Given the description of an element on the screen output the (x, y) to click on. 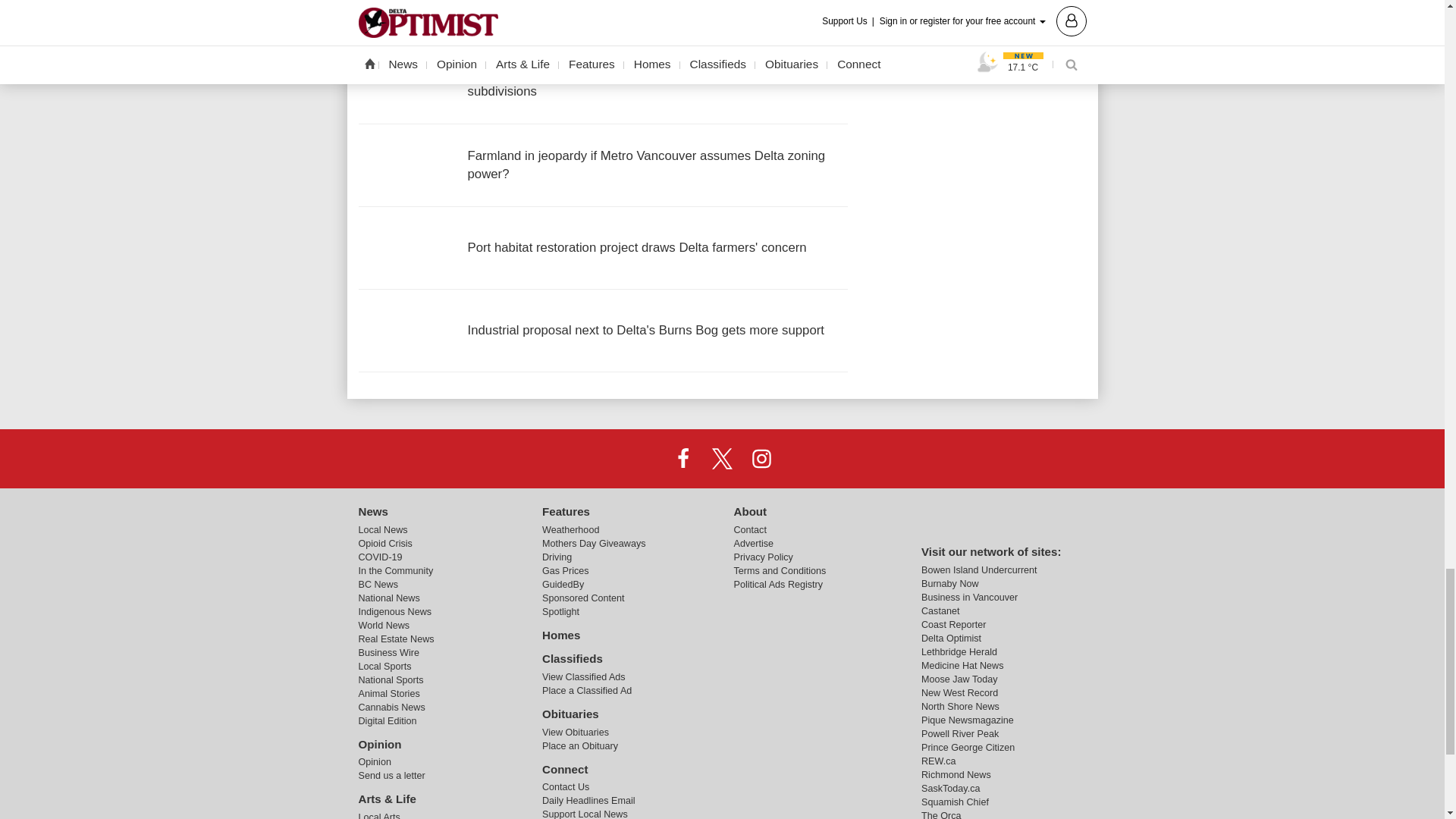
Facebook (683, 458)
X (721, 458)
Instagram (760, 458)
